Given the description of an element on the screen output the (x, y) to click on. 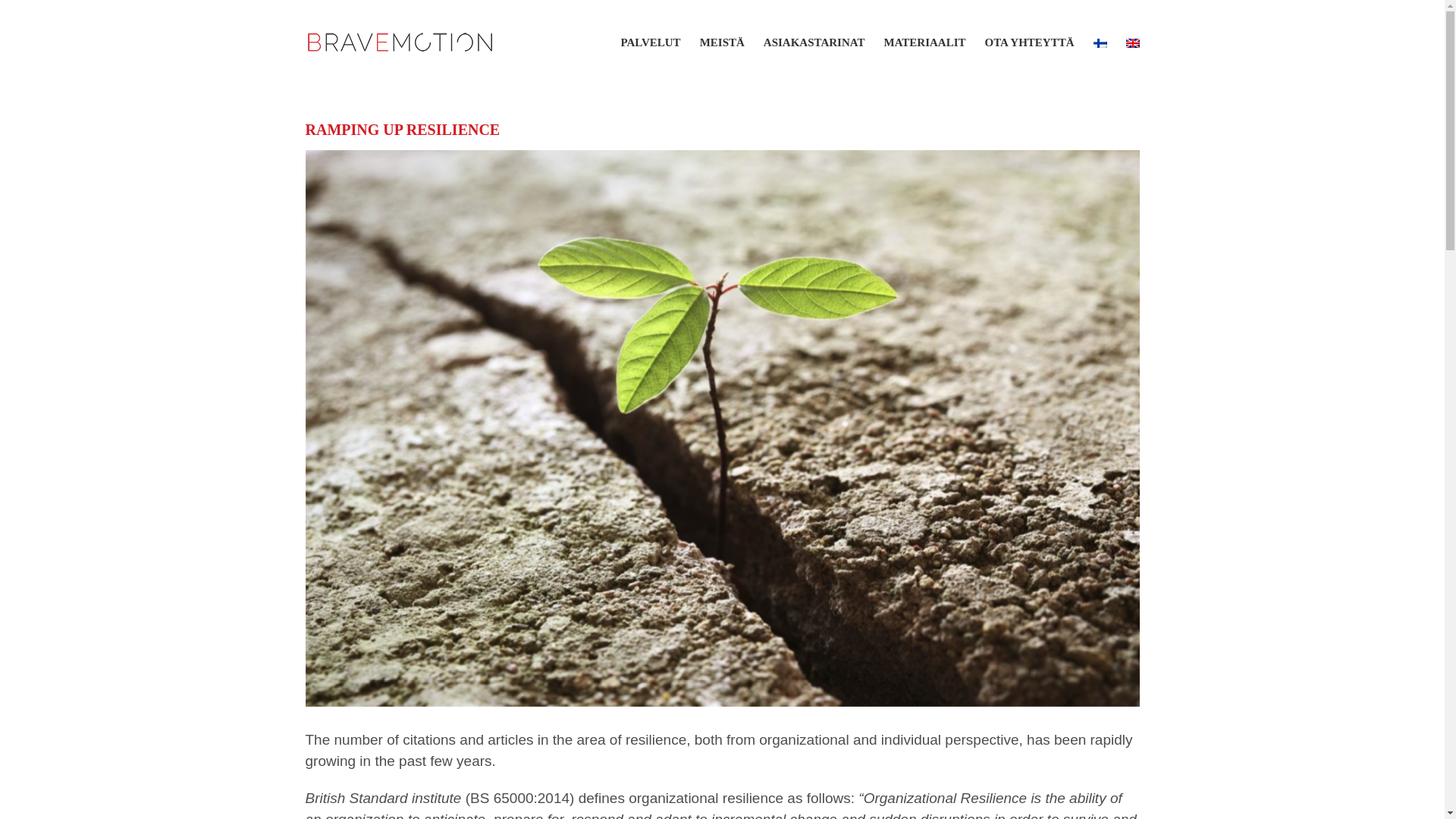
ASIAKASTARINAT (813, 42)
MATERIAALIT (924, 42)
